Given the description of an element on the screen output the (x, y) to click on. 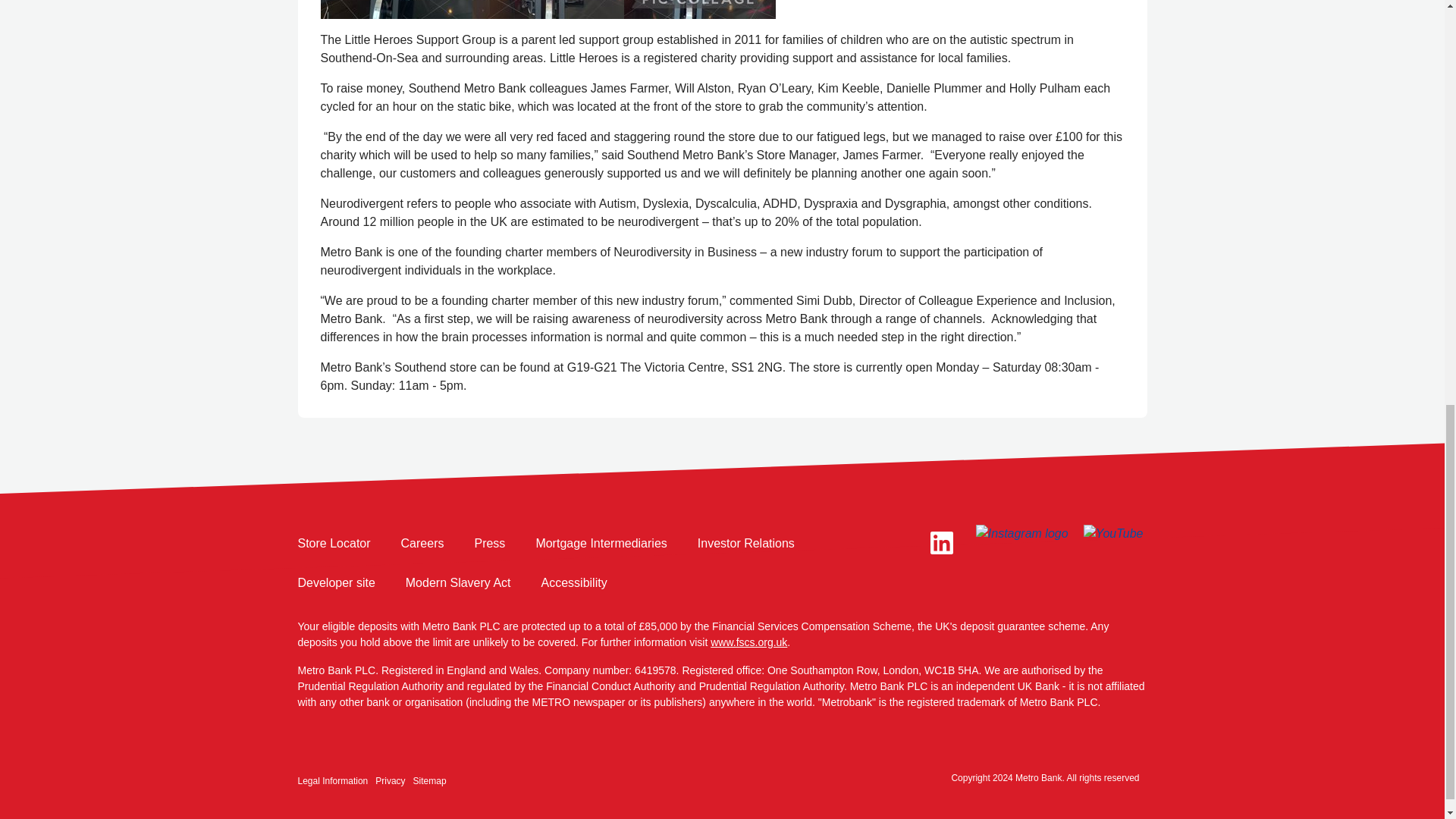
Developer site (335, 582)
Careers (422, 543)
Investor Relations (745, 543)
Modern Slavery Act (458, 582)
FSCS Website (748, 642)
Store Locator (333, 543)
Accessibility (574, 582)
Mortgage Intermediaries (600, 543)
